Given the description of an element on the screen output the (x, y) to click on. 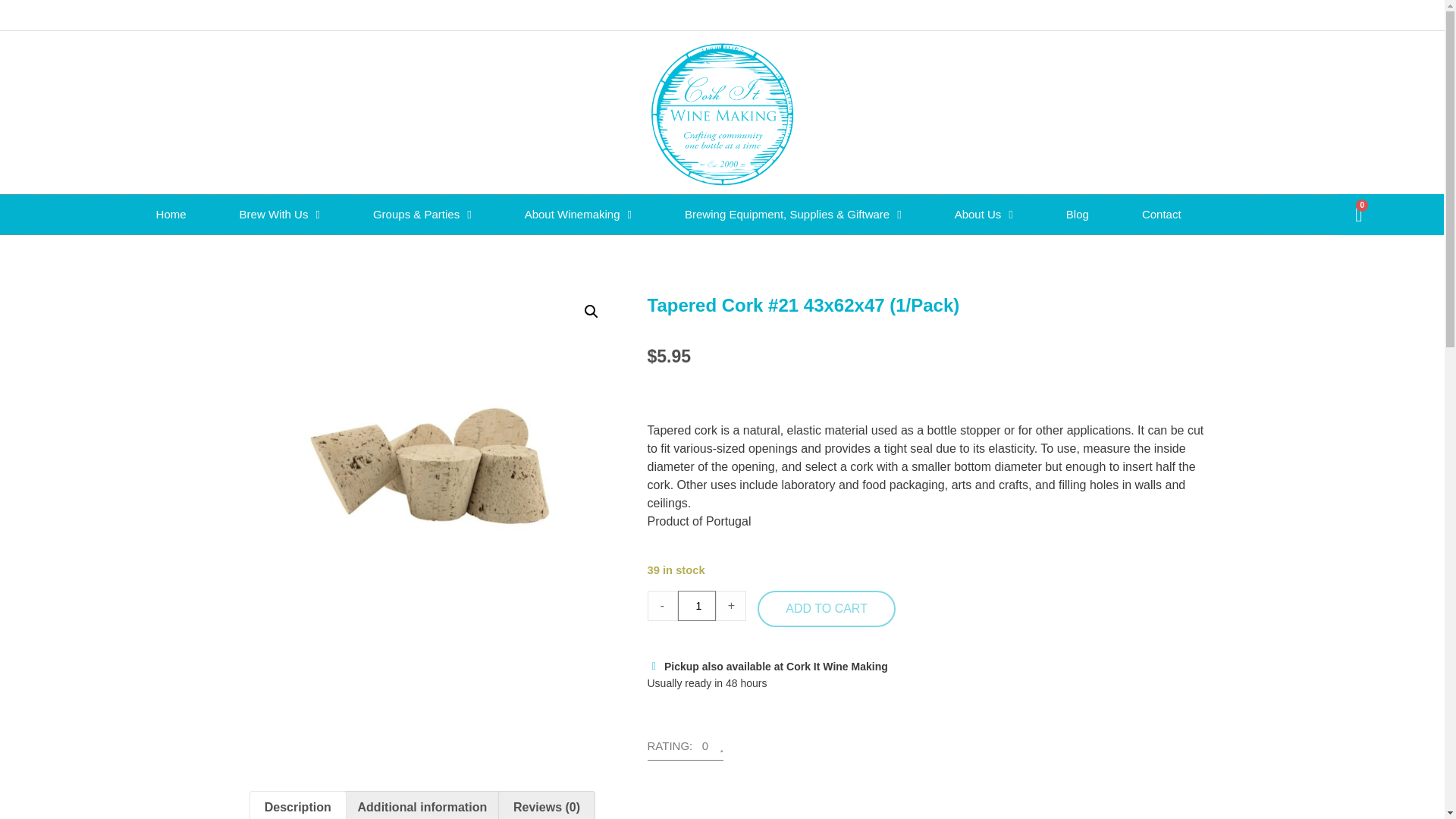
1 (697, 605)
About Winemaking (577, 214)
Brew With Us (279, 214)
Qty (697, 605)
Home (170, 214)
